Given the description of an element on the screen output the (x, y) to click on. 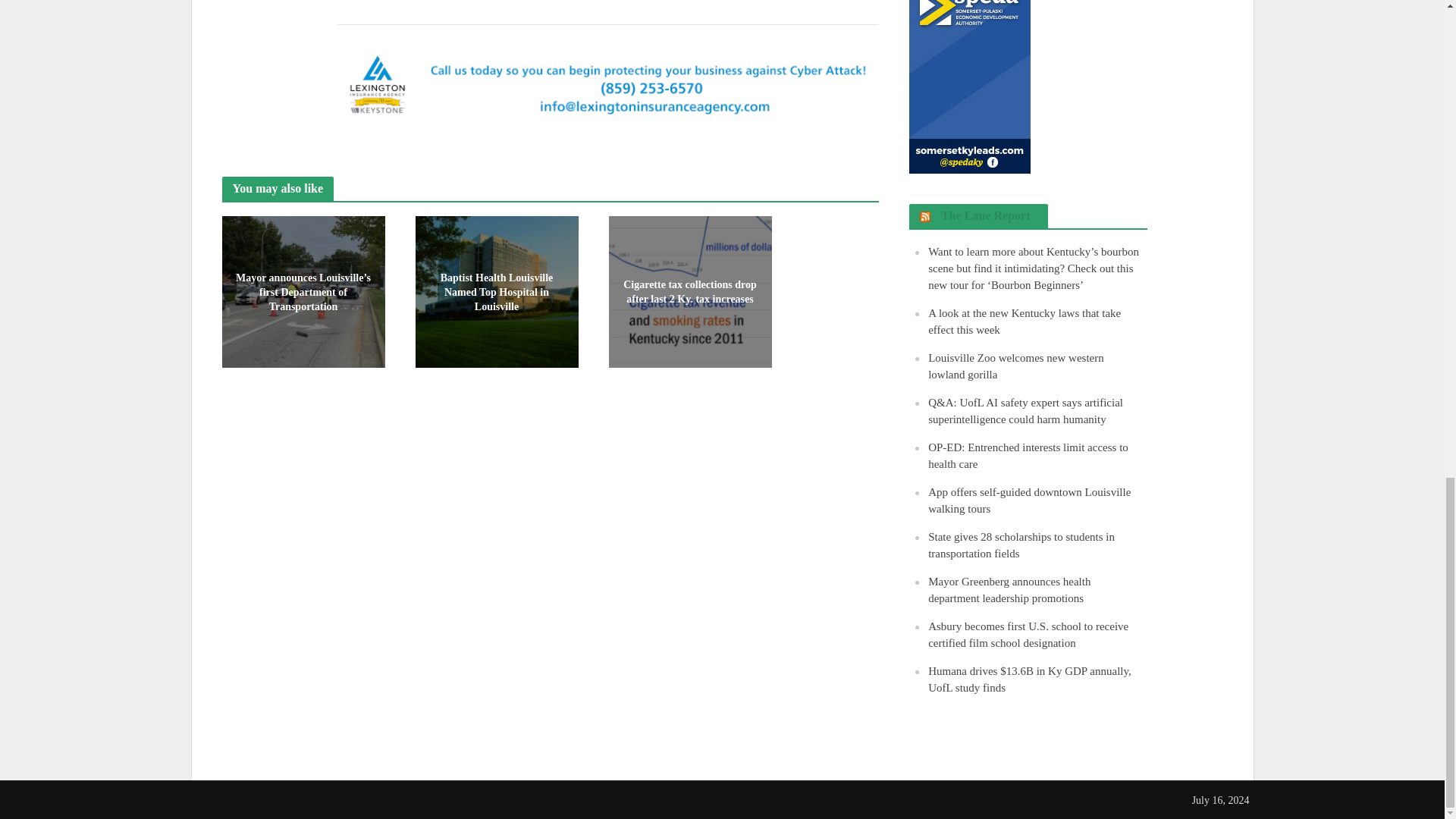
Baptist Health Louisville Named Top Hospital in Louisville (496, 290)
